Given the description of an element on the screen output the (x, y) to click on. 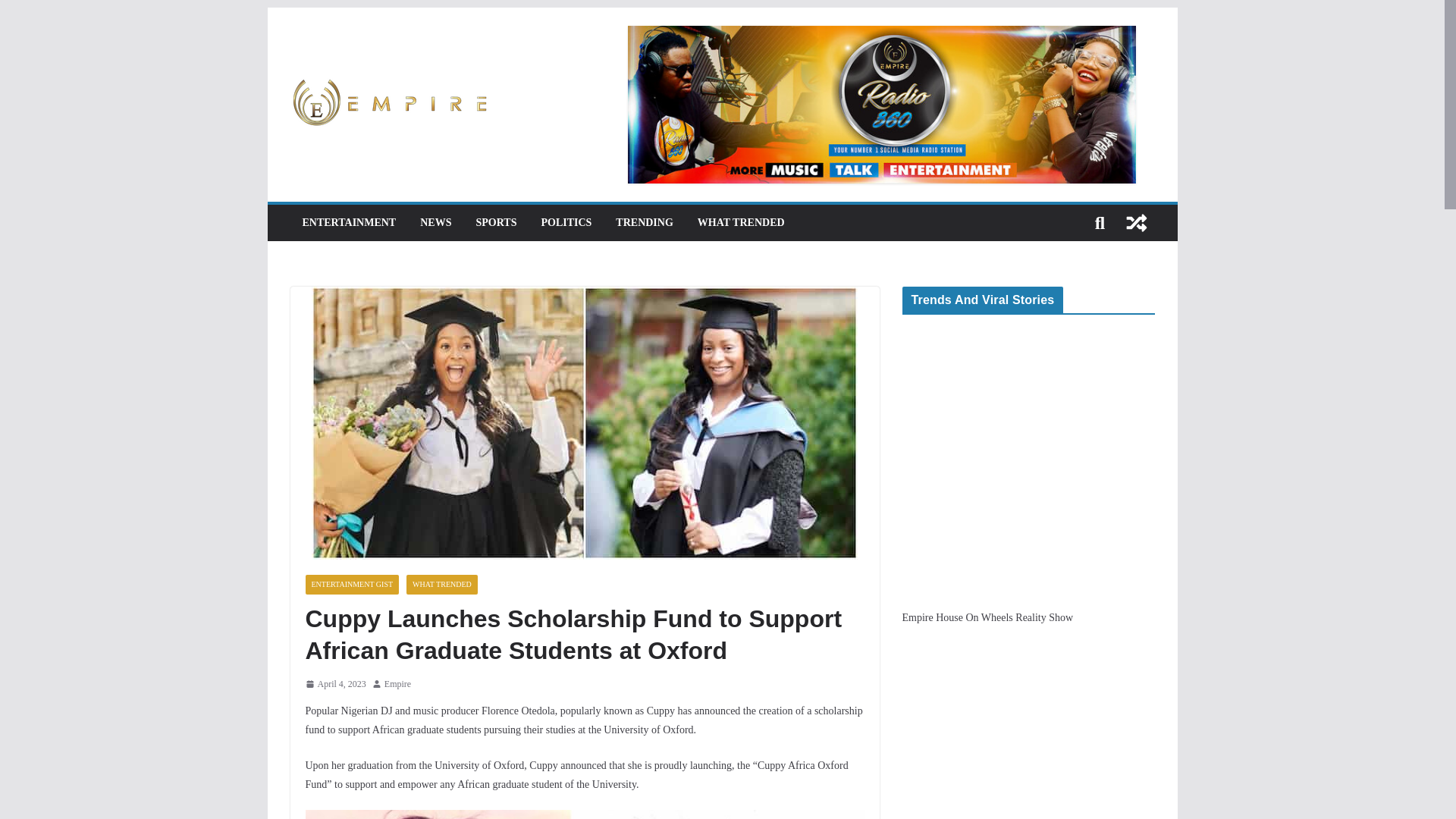
WHAT TRENDED (441, 584)
Empire (397, 684)
Empire (397, 684)
TRENDING (643, 222)
NEWS (435, 222)
11:56 am (334, 684)
April 4, 2023 (334, 684)
WHAT TRENDED (740, 222)
ENTERTAINMENT (348, 222)
ENTERTAINMENT GIST (351, 584)
POLITICS (565, 222)
View a random post (1136, 222)
SPORTS (496, 222)
